Given the description of an element on the screen output the (x, y) to click on. 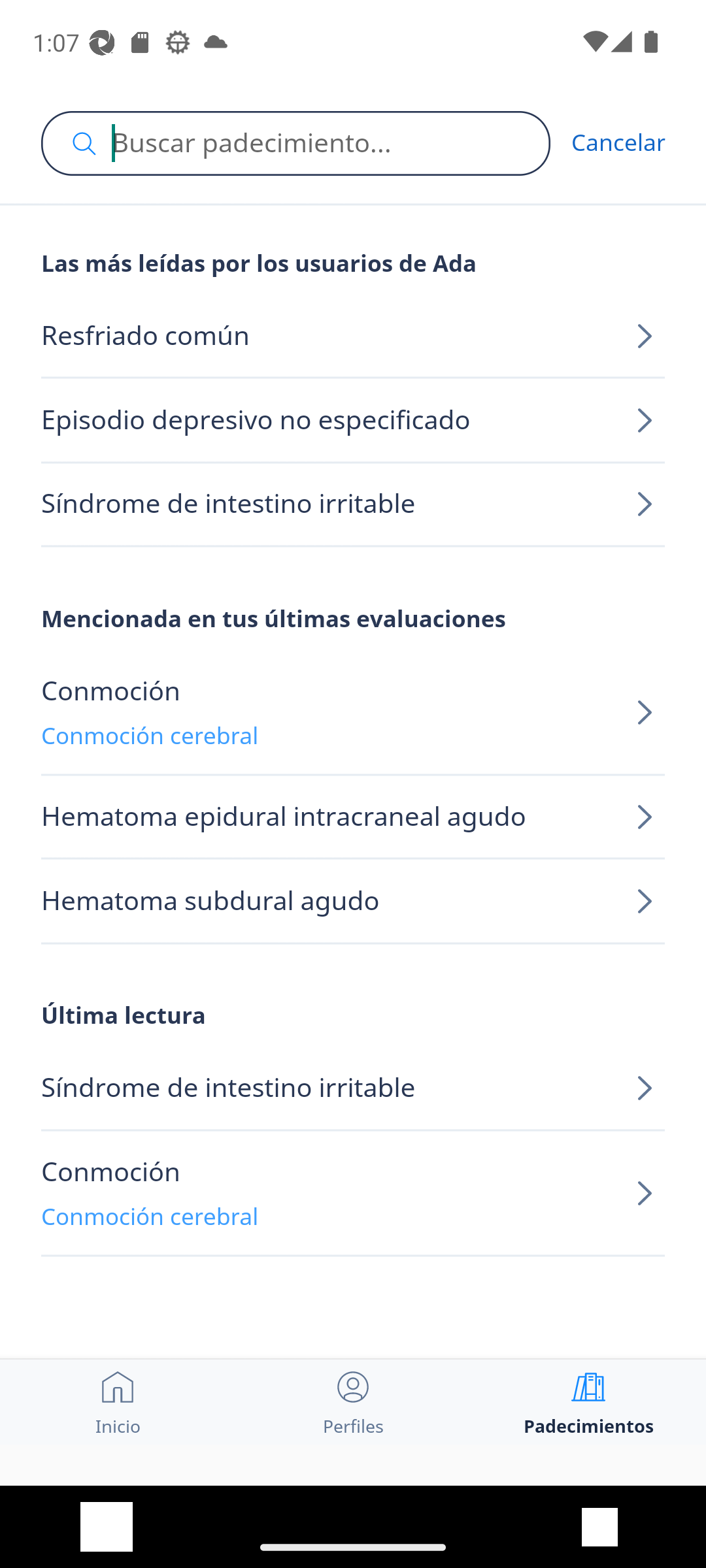
Buscar padecimiento... (295, 143)
Cancelar (618, 142)
Resfriado común (352, 335)
Episodio depresivo no especificado (352, 420)
Síndrome de intestino irritable (352, 504)
Conmoción Conmoción cerebral (352, 713)
Hematoma epidural intracraneal agudo (352, 817)
Hematoma subdural agudo (352, 901)
Síndrome de intestino irritable (352, 1088)
Conmoción Conmoción cerebral (352, 1192)
Inicio (117, 1401)
Perfiles (352, 1401)
Padecimientos (588, 1401)
